Given the description of an element on the screen output the (x, y) to click on. 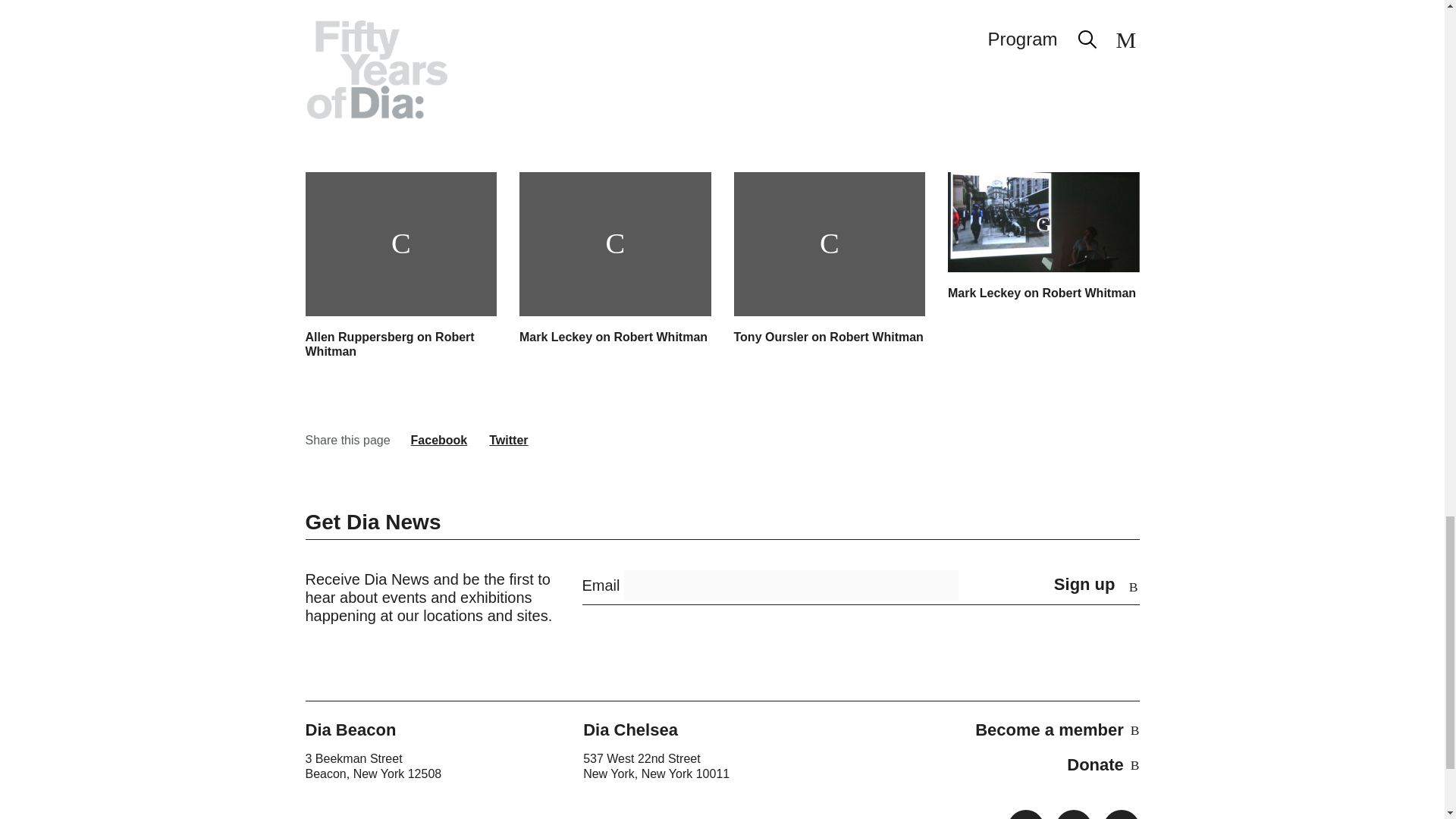
Facebook (1025, 814)
X (1073, 814)
Instagram (1120, 814)
